Given the description of an element on the screen output the (x, y) to click on. 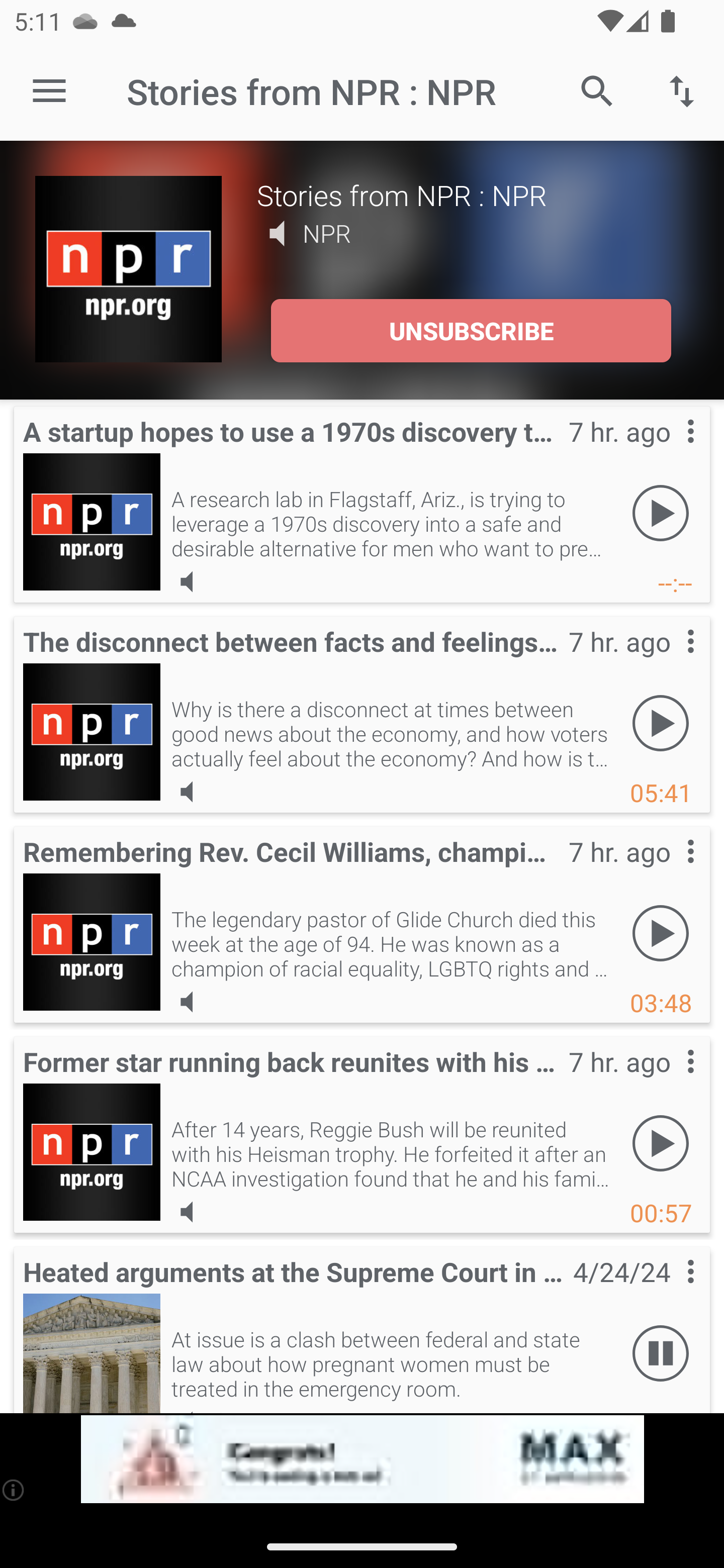
Open navigation sidebar (49, 91)
Search (597, 90)
Sort (681, 90)
UNSUBSCRIBE (470, 330)
Contextual menu (668, 451)
Play (660, 513)
Contextual menu (668, 661)
Play (660, 723)
Contextual menu (668, 870)
Play (660, 933)
Contextual menu (668, 1080)
Play (660, 1143)
Contextual menu (668, 1290)
Pause (660, 1353)
app-monetization (362, 1459)
(i) (14, 1489)
